Given the description of an element on the screen output the (x, y) to click on. 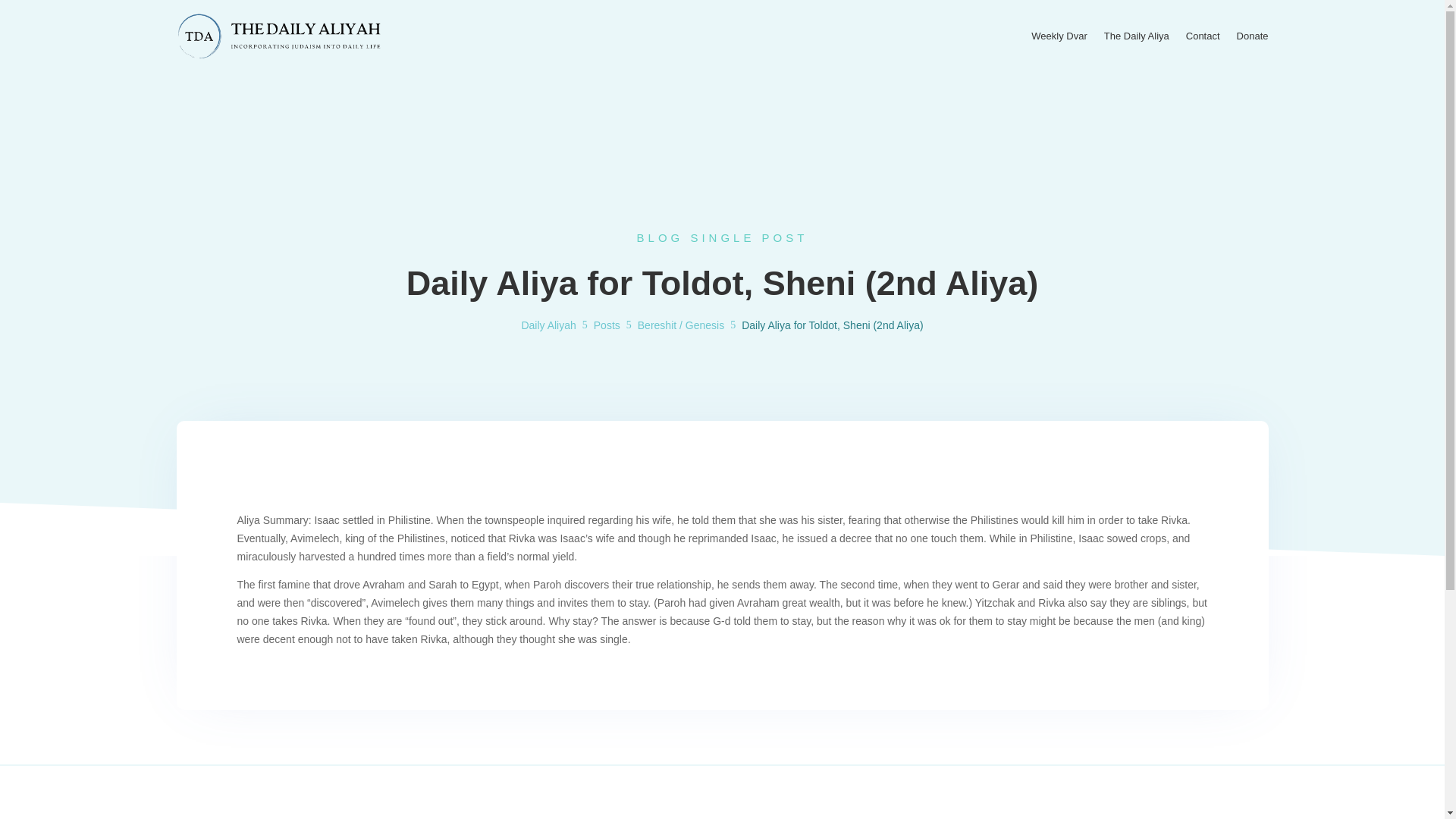
Weekly Dvar (1058, 36)
Daily Aliyah (548, 324)
Posts (607, 324)
The Daily Aliya (1136, 36)
